Given the description of an element on the screen output the (x, y) to click on. 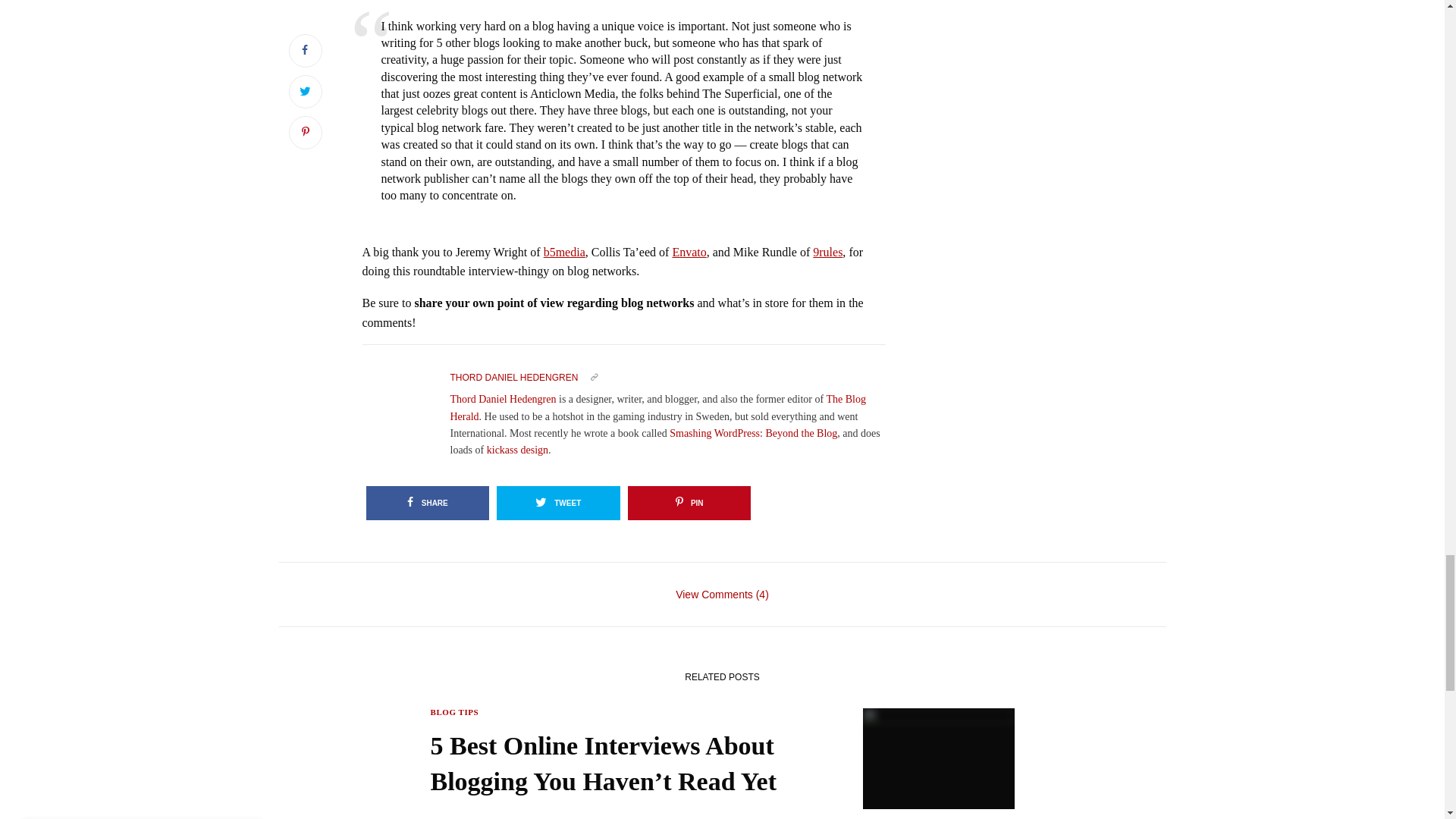
kickass design (517, 449)
b5media (564, 251)
The Blog Herald (657, 407)
Smashing WordPress: Beyond the Blog (753, 432)
THORD DANIEL HEDENGREN (513, 377)
9rules (827, 251)
Thord Daniel Hedengren (502, 398)
Envato (688, 251)
